Given the description of an element on the screen output the (x, y) to click on. 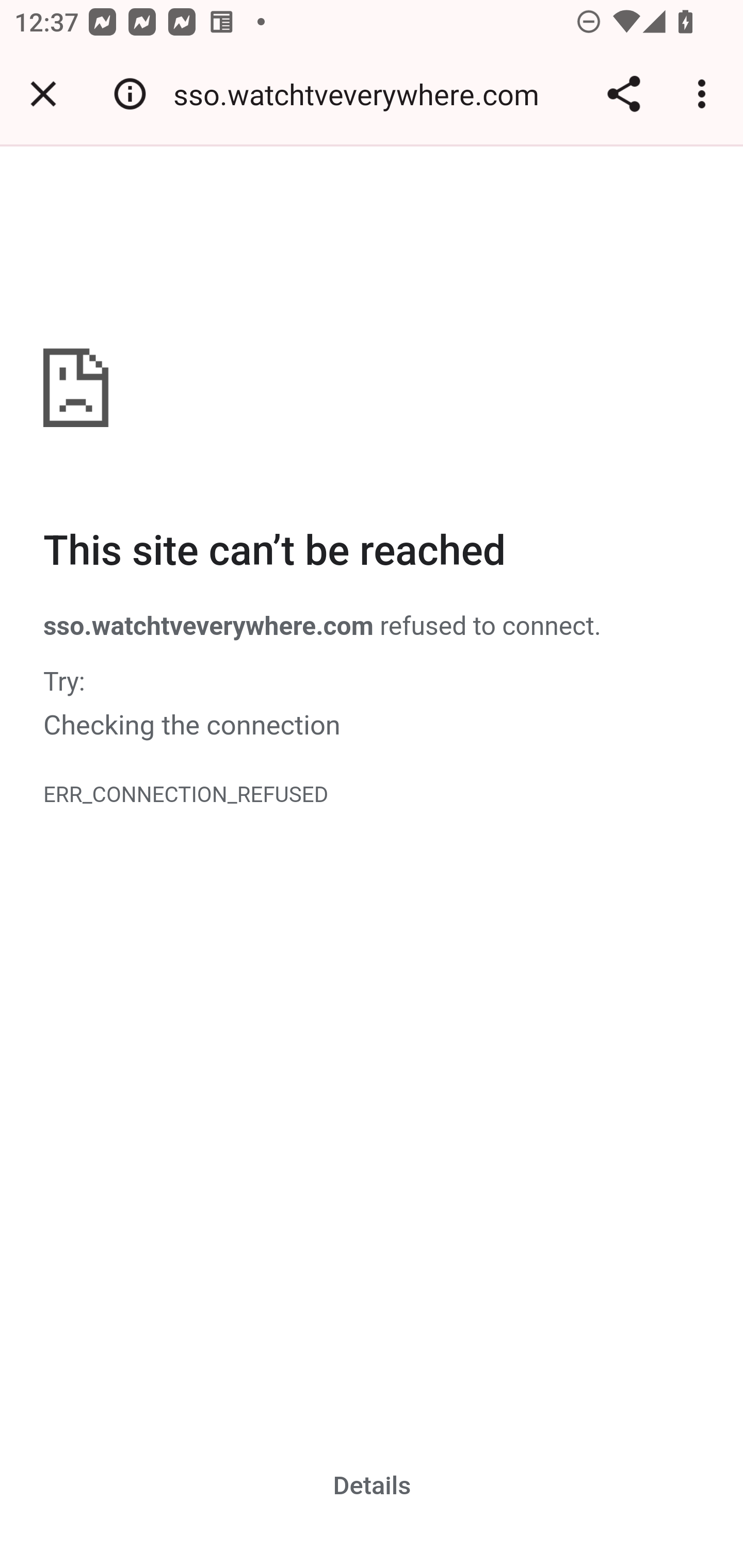
Close tab (43, 93)
Share (623, 93)
Customize and control Google Chrome (705, 93)
Your connection to this site is not secure (129, 93)
sso.watchtveverywhere.com (363, 93)
Details (372, 1485)
